Given the description of an element on the screen output the (x, y) to click on. 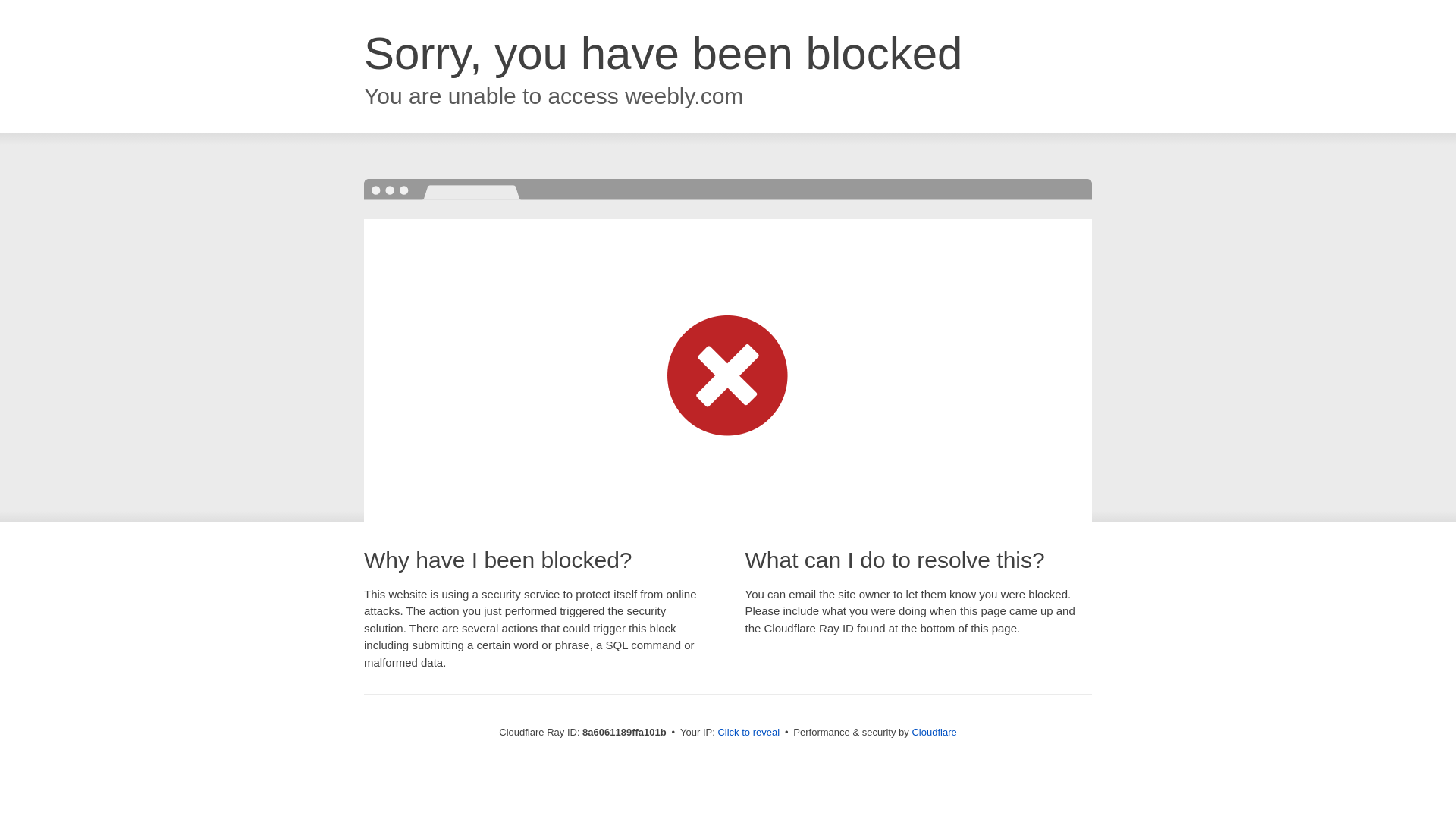
Cloudflare (933, 731)
Click to reveal (747, 732)
